Given the description of an element on the screen output the (x, y) to click on. 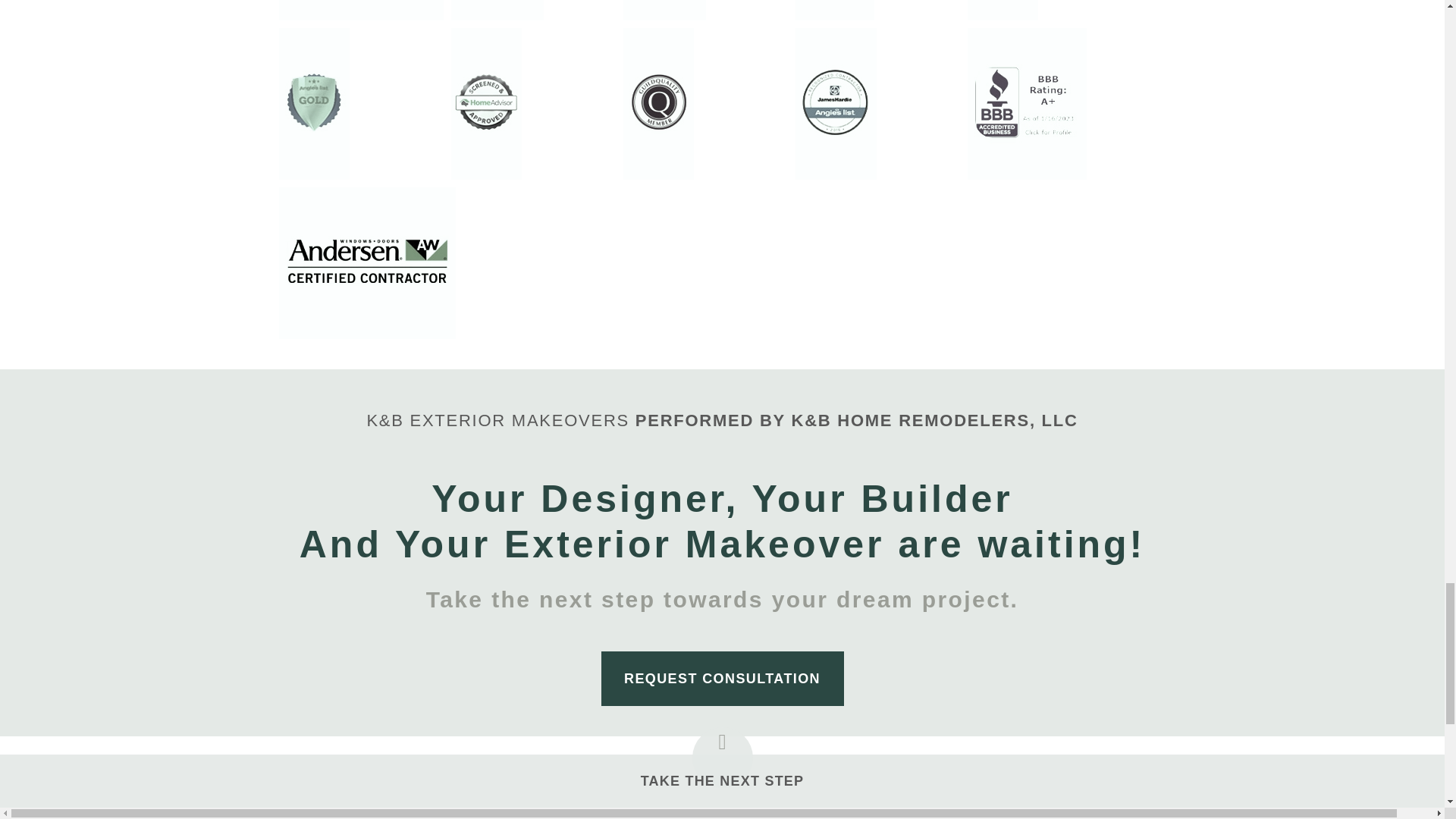
JamesHardie (361, 10)
Atlas (496, 10)
Angies-2014 (664, 10)
